Given the description of an element on the screen output the (x, y) to click on. 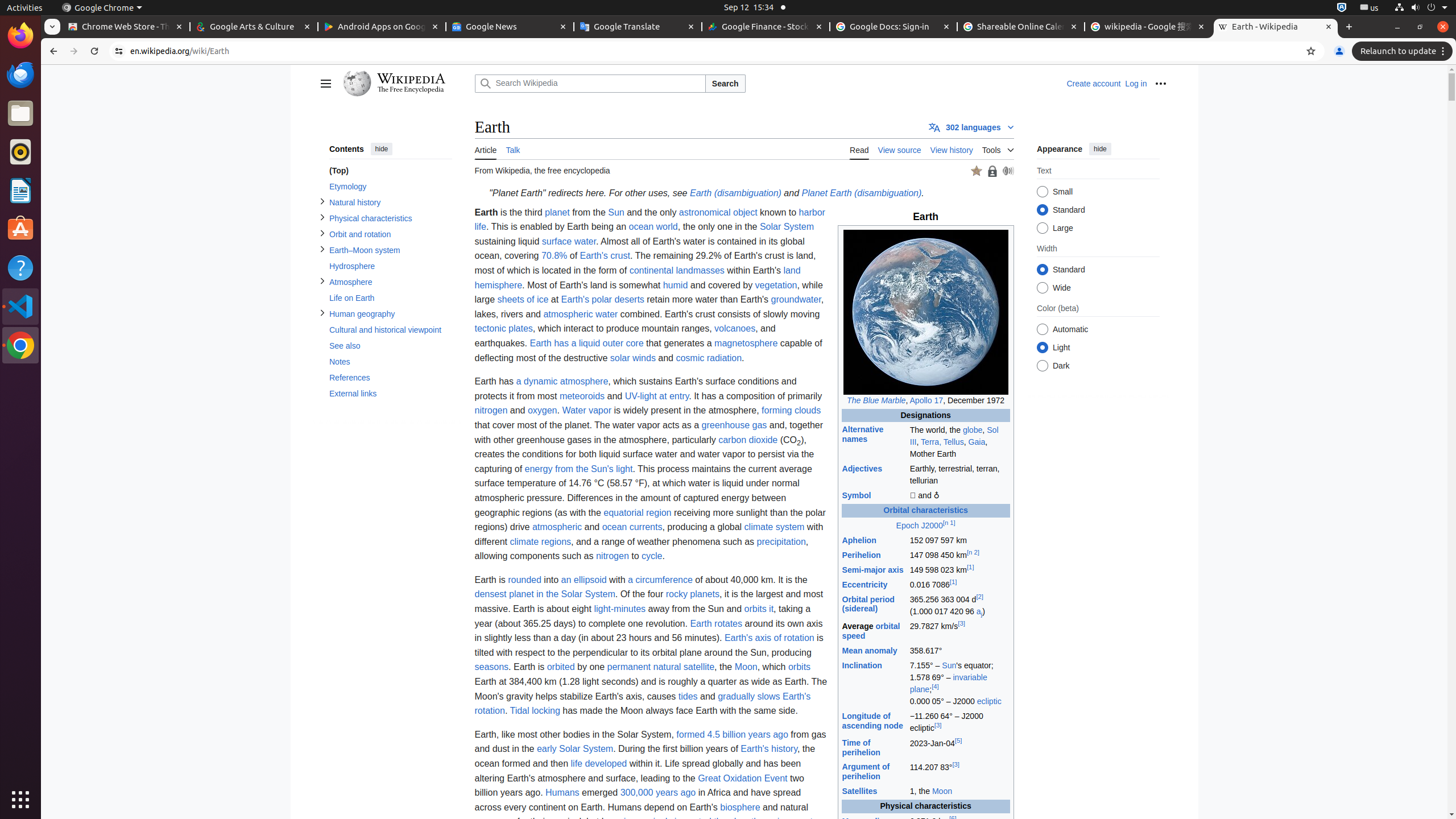
🜨 and ♁ Element type: table-cell (959, 495)
forming clouds Element type: link (791, 410)
Notes Element type: link (390, 361)
Semi-major axis Element type: link (872, 569)
Terra, Tellus Element type: link (942, 441)
